Given the description of an element on the screen output the (x, y) to click on. 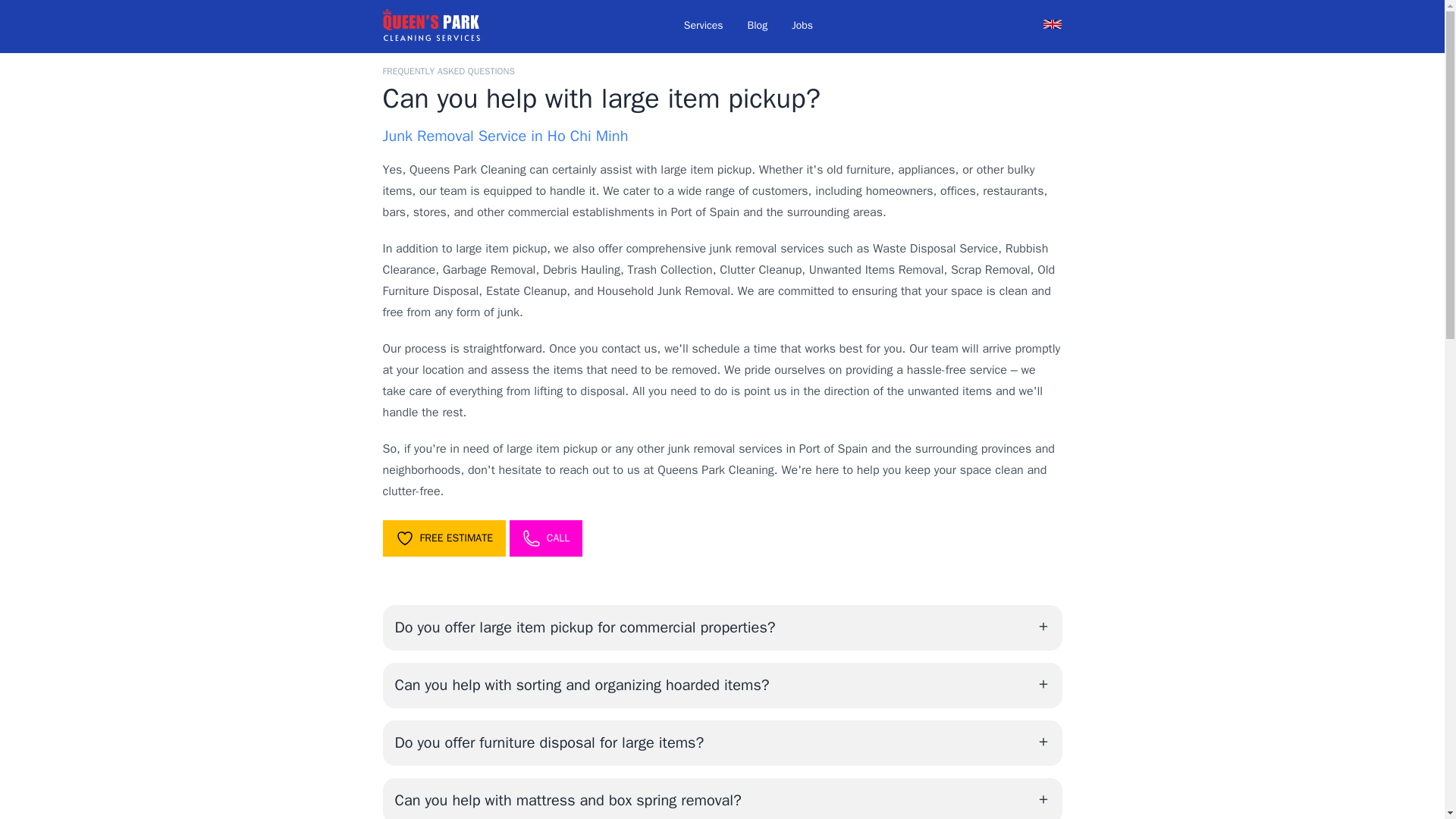
FREE ESTIMATE (443, 538)
Queens Park Cleaning Home (430, 25)
Jobs (801, 25)
Blog (757, 25)
CALL (546, 538)
Services (703, 25)
Junk Removal Service in Ho Chi Minh (504, 135)
